Given the description of an element on the screen output the (x, y) to click on. 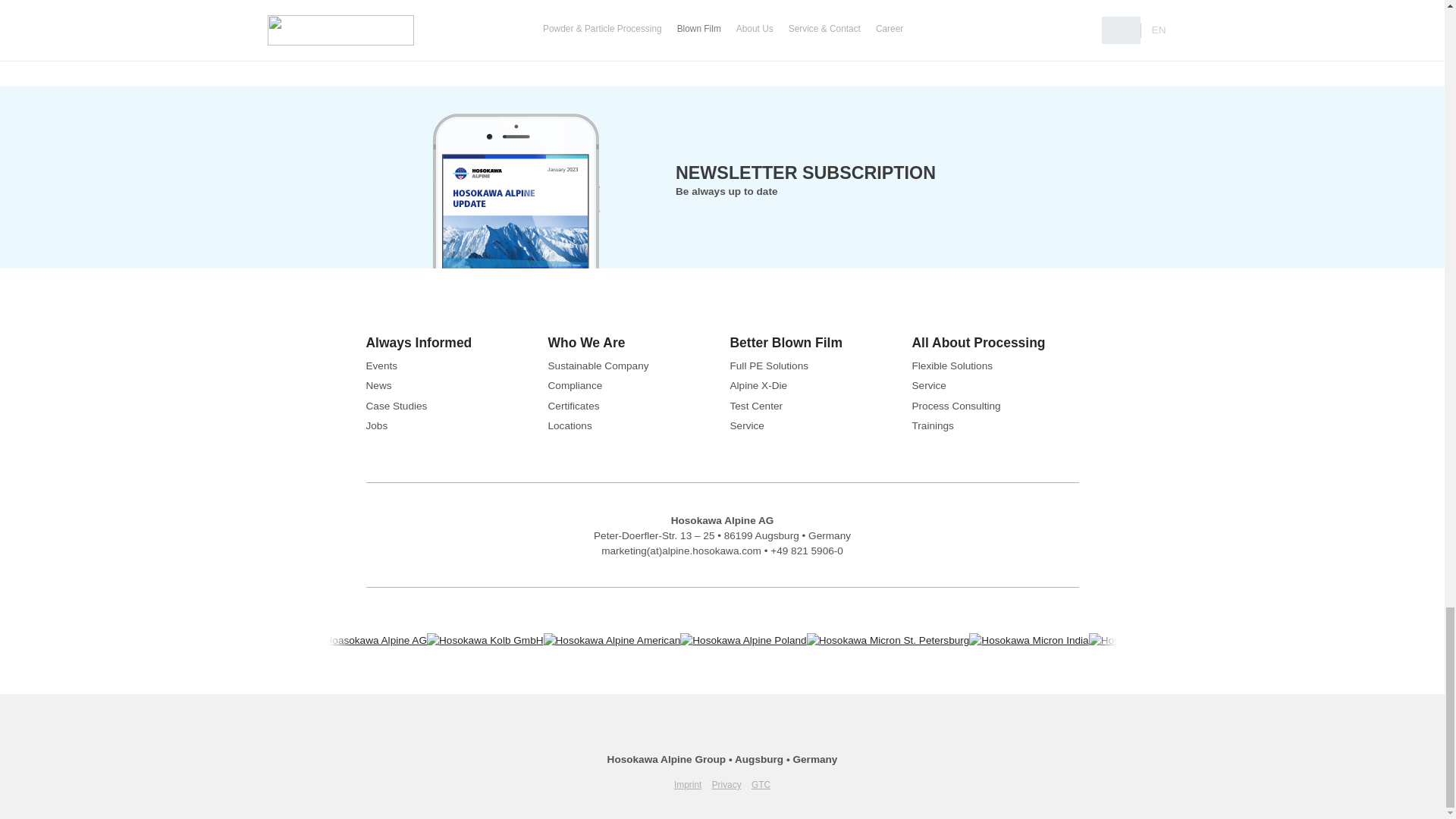
Hosokawa Alpine Poland (742, 641)
YouTube (756, 736)
Hosokawa Micron India (1028, 641)
Hosokawa Solids Solutions (1157, 641)
Hosokawa Alpine AG (369, 641)
Hosokawa Micron St. Petersburg (887, 641)
Hosokawa Kolb GmbH (484, 641)
LinkedIn (686, 736)
xing (721, 736)
Hosokawa Alpine American (612, 641)
